Given the description of an element on the screen output the (x, y) to click on. 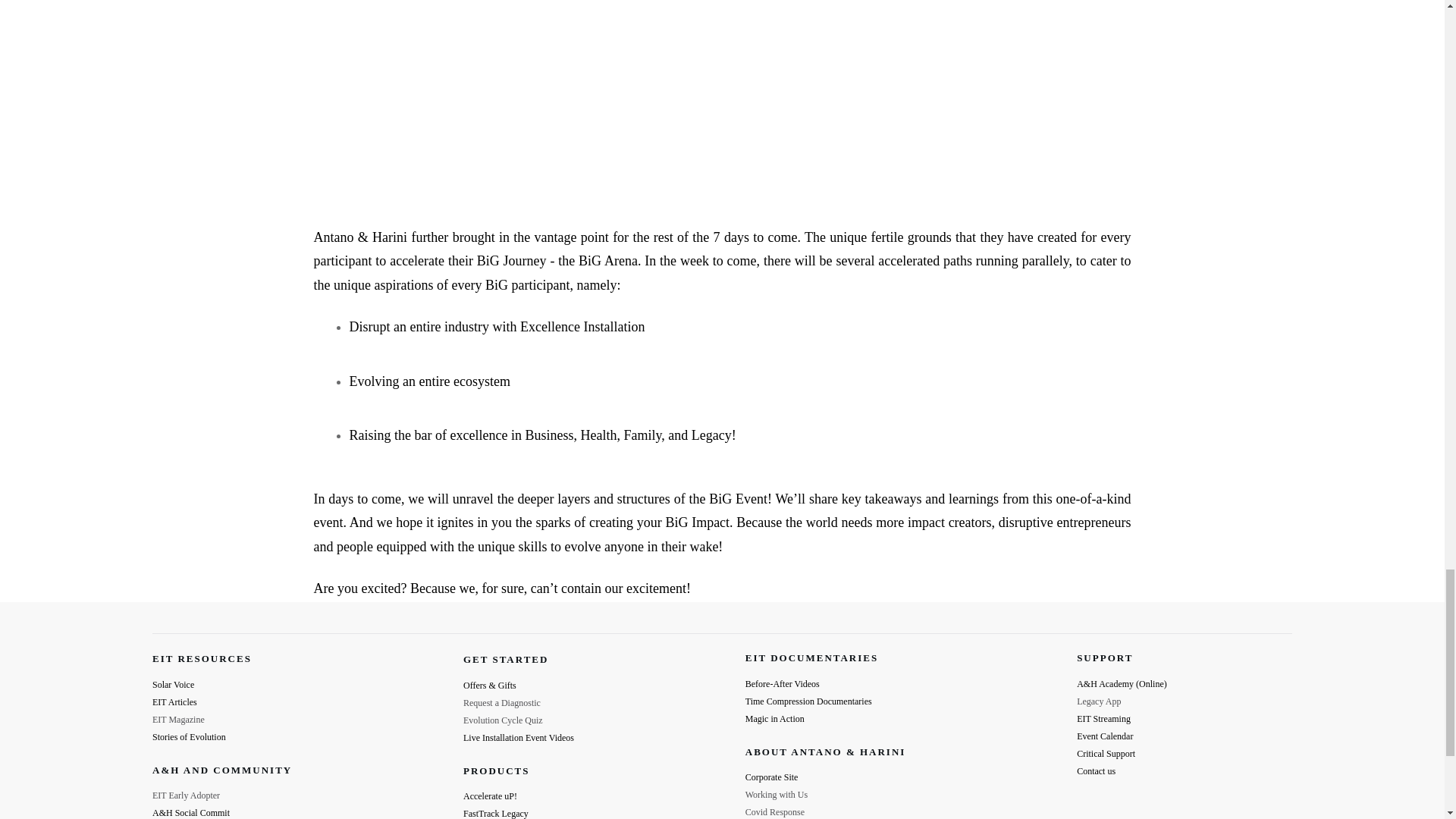
EIT Articles (174, 701)
FastTrack Legacy (495, 813)
Solar Voice (172, 684)
Stories of Evolution (188, 737)
Corporate Site (771, 777)
Accelerate uP! (489, 796)
Live Installation Event Videos (518, 737)
Time Compression Documentaries (808, 701)
Before-After Videos (782, 683)
Magic in Action (775, 718)
